Given the description of an element on the screen output the (x, y) to click on. 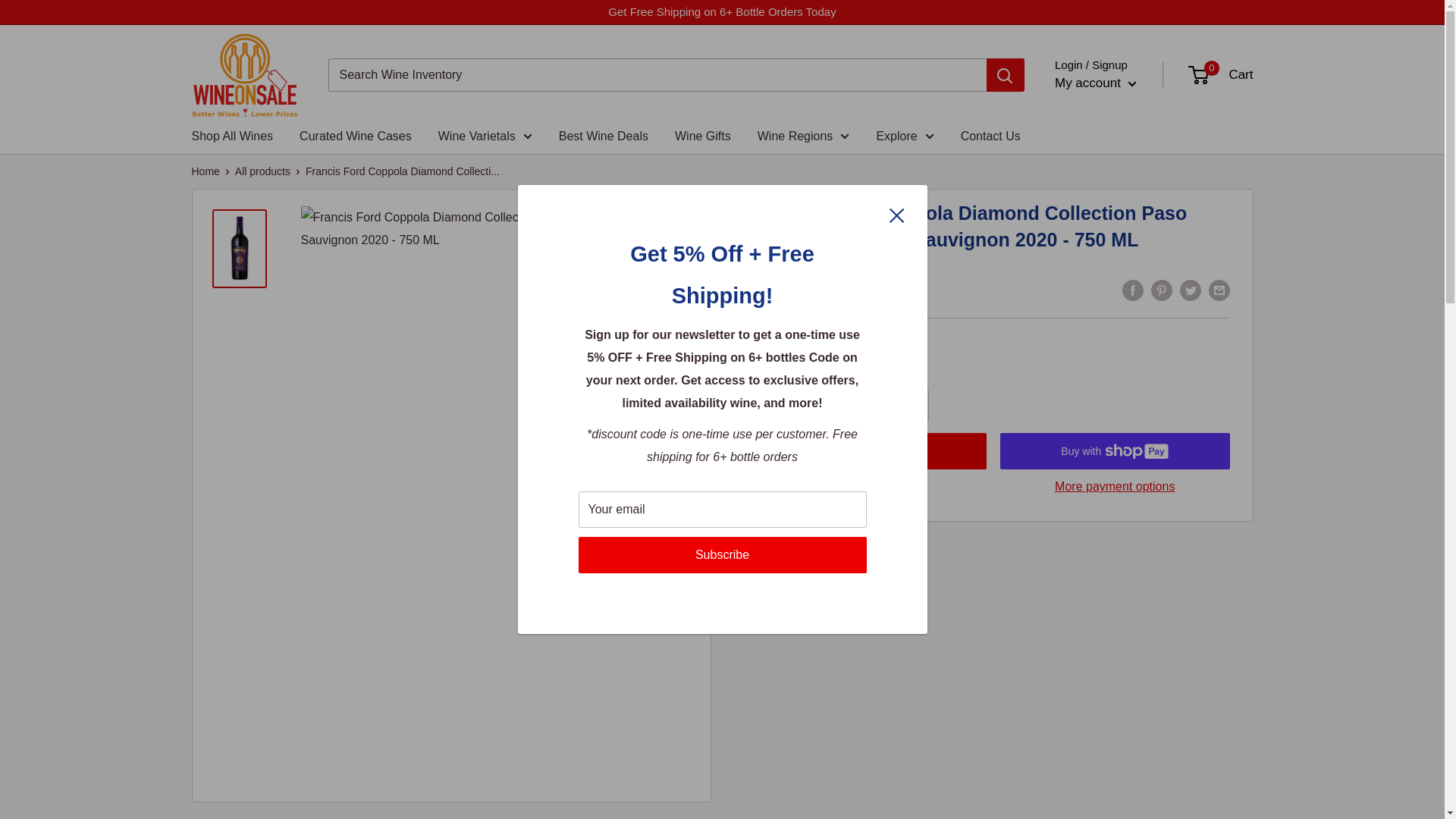
Subscribe (722, 555)
Decrease quantity by 1 (831, 405)
1 (871, 405)
Increase quantity by 1 (912, 405)
